Given the description of an element on the screen output the (x, y) to click on. 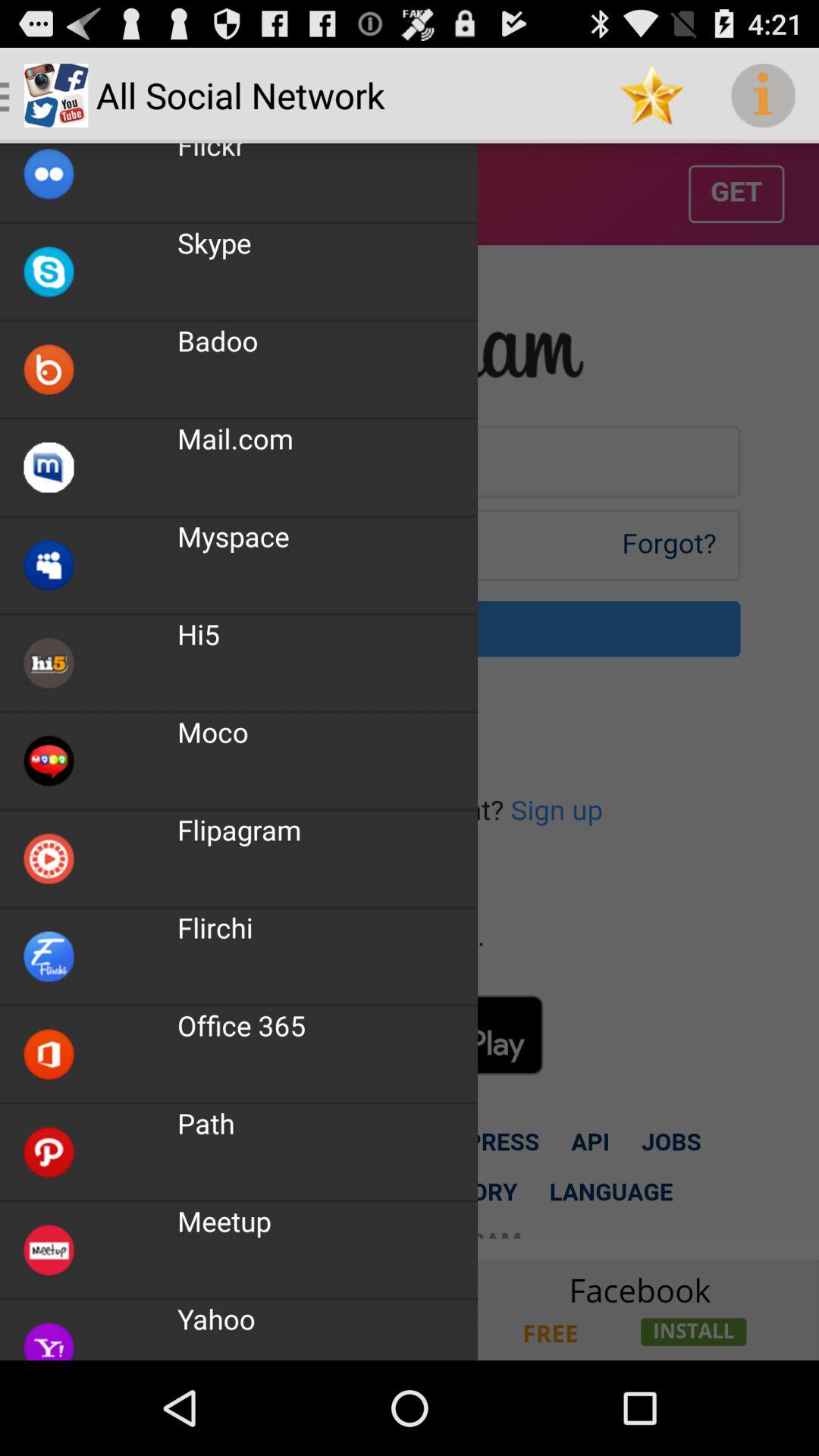
scroll to flipagram app (239, 829)
